Given the description of an element on the screen output the (x, y) to click on. 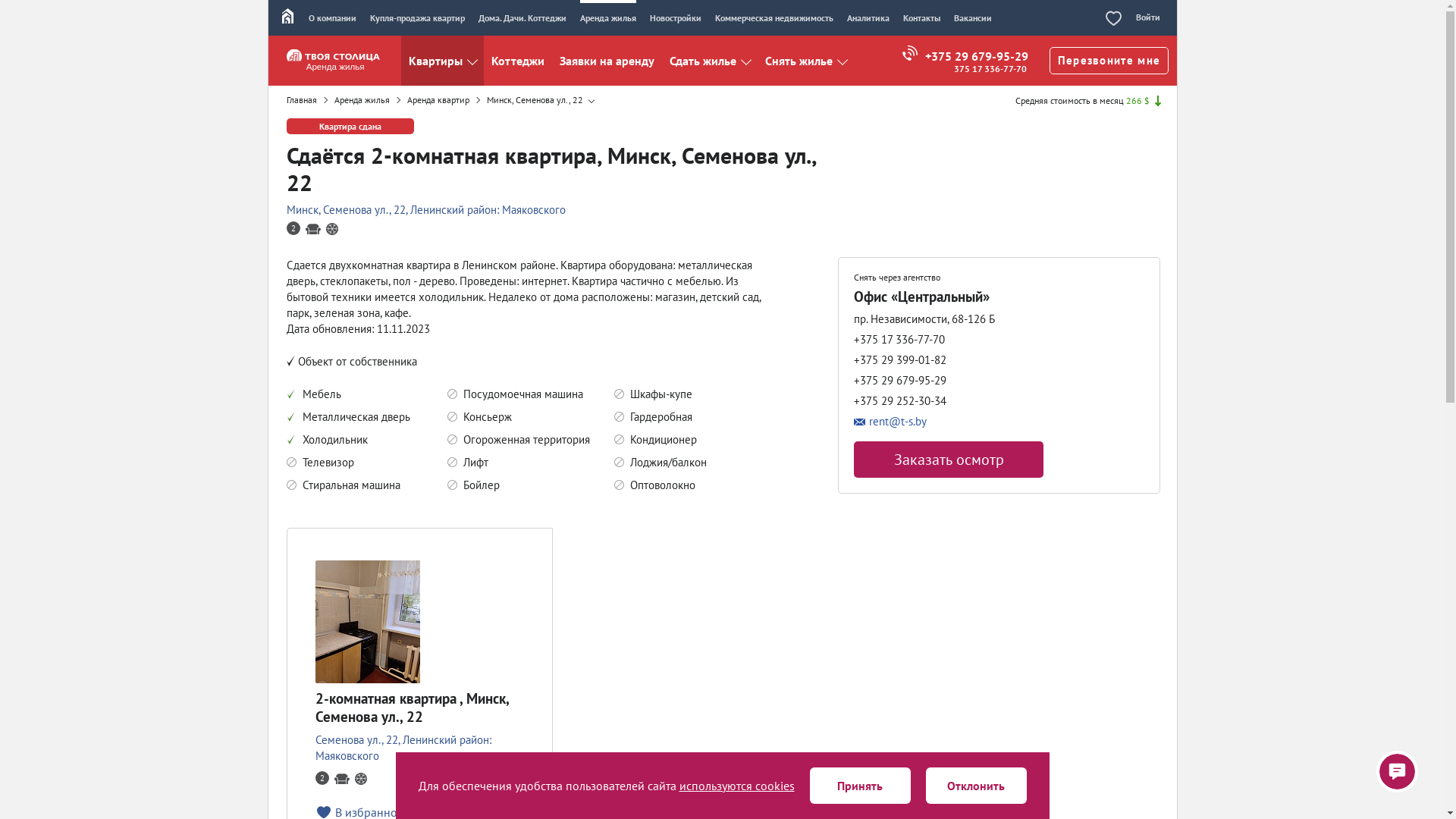
+375 17 336-77-70 Element type: text (898, 339)
+375 29 679-95-29 Element type: text (899, 380)
rent@t-s.by Element type: text (948, 421)
+375 29 679-95-29 Element type: text (965, 55)
+375 29 399-01-82 Element type: text (899, 359)
+375 29 252-30-34 Element type: text (899, 400)
